Given the description of an element on the screen output the (x, y) to click on. 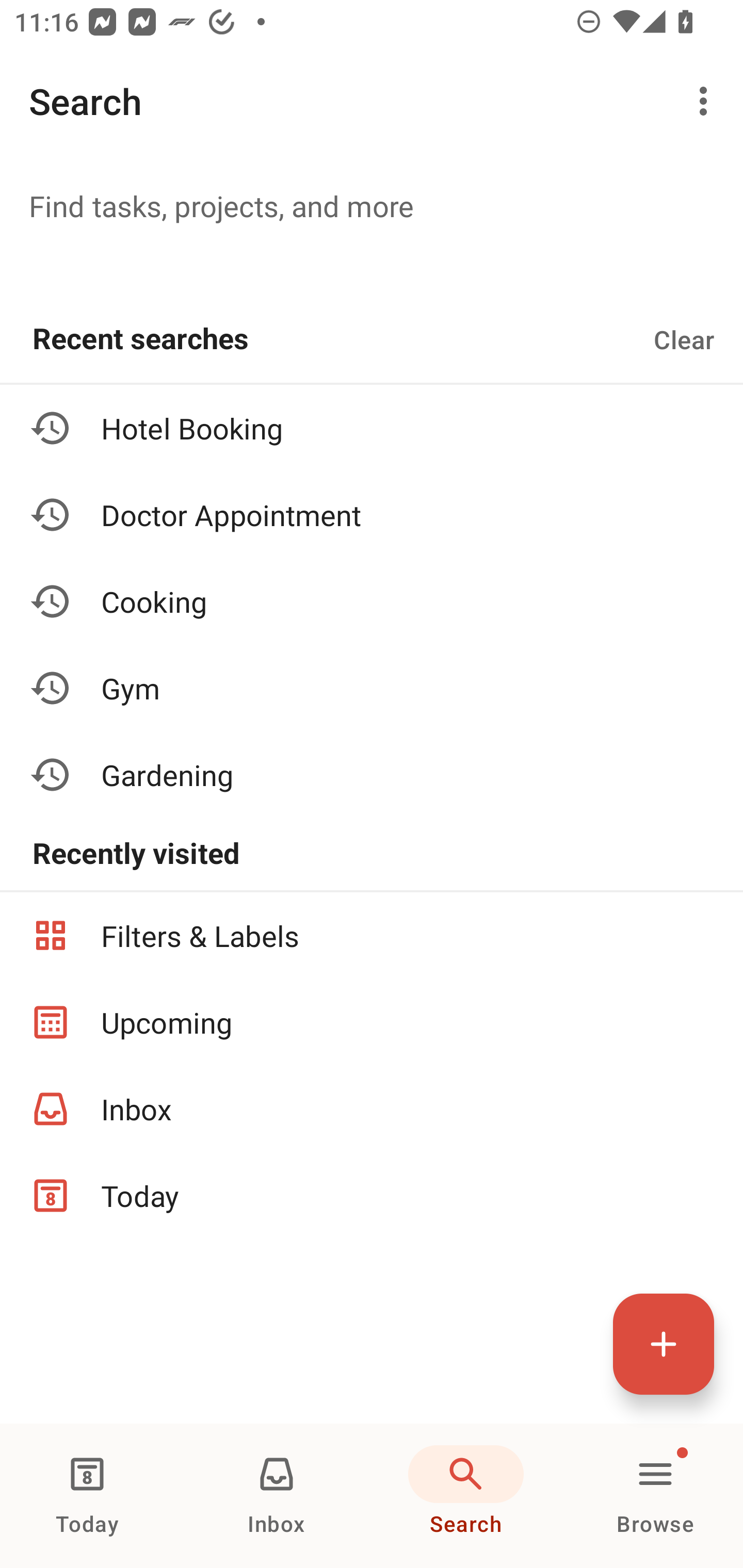
Search More options (371, 100)
More options (706, 101)
Find tasks, projects, and more (371, 205)
Clear (683, 339)
Hotel Booking (371, 427)
Doctor Appointment (371, 514)
Cooking (371, 601)
Gym (371, 687)
Gardening (371, 774)
Filters & Labels (371, 935)
Upcoming (371, 1022)
Inbox (371, 1109)
Today (371, 1195)
Quick add (663, 1343)
Today (87, 1495)
Inbox (276, 1495)
Browse (655, 1495)
